Given the description of an element on the screen output the (x, y) to click on. 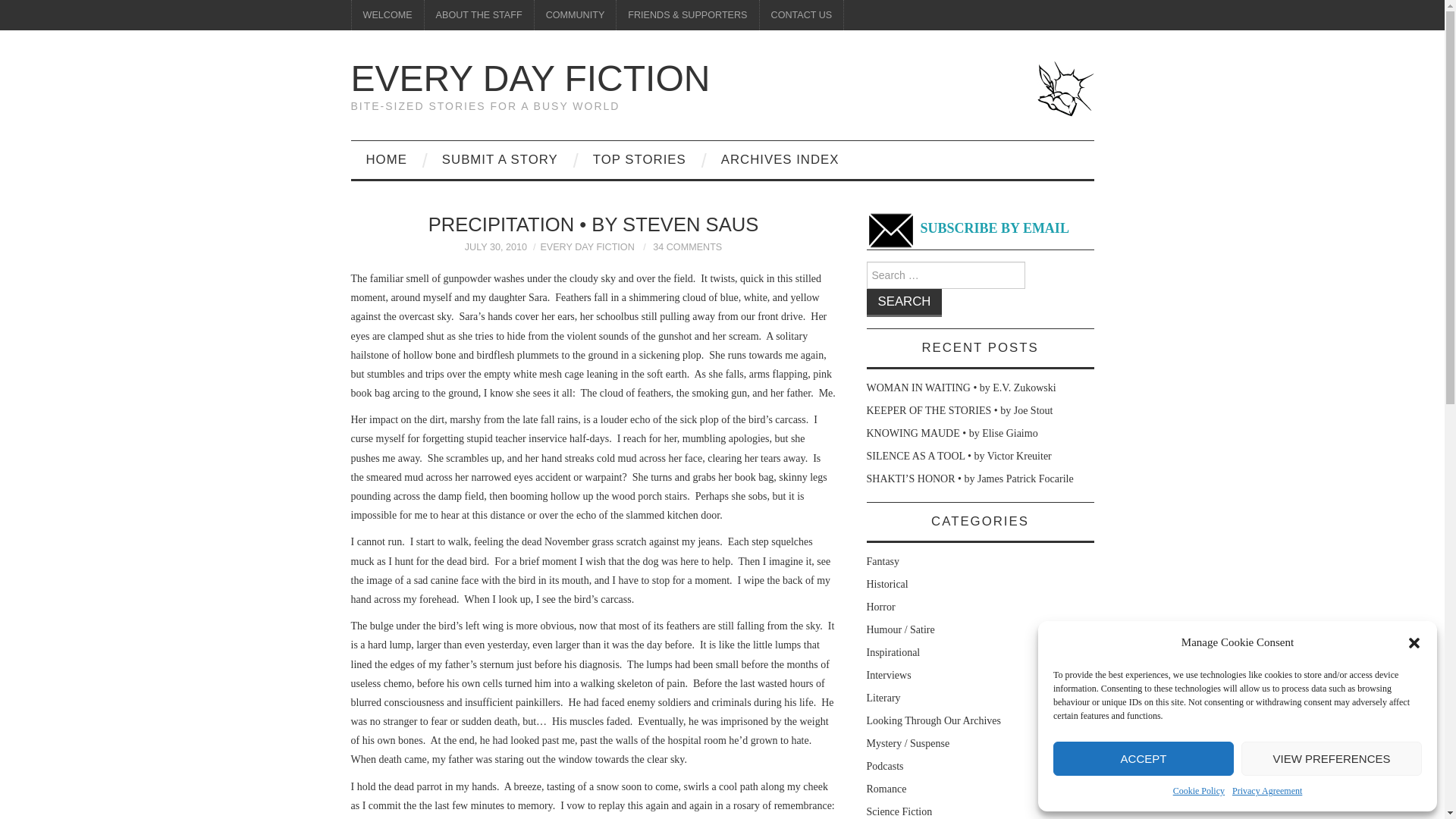
Search for: (945, 275)
HOME (386, 159)
CONTACT US (802, 15)
ARCHIVES INDEX (780, 159)
Search (904, 302)
Privacy Agreement (1266, 791)
WELCOME (387, 15)
Cookie Policy (1198, 791)
ABOUT THE STAFF (479, 15)
TOP STORIES (639, 159)
Every Day Fiction (530, 78)
ACCEPT (1142, 758)
34 COMMENTS (687, 246)
VIEW PREFERENCES (1331, 758)
EVERY DAY FICTION (586, 246)
